Given the description of an element on the screen output the (x, y) to click on. 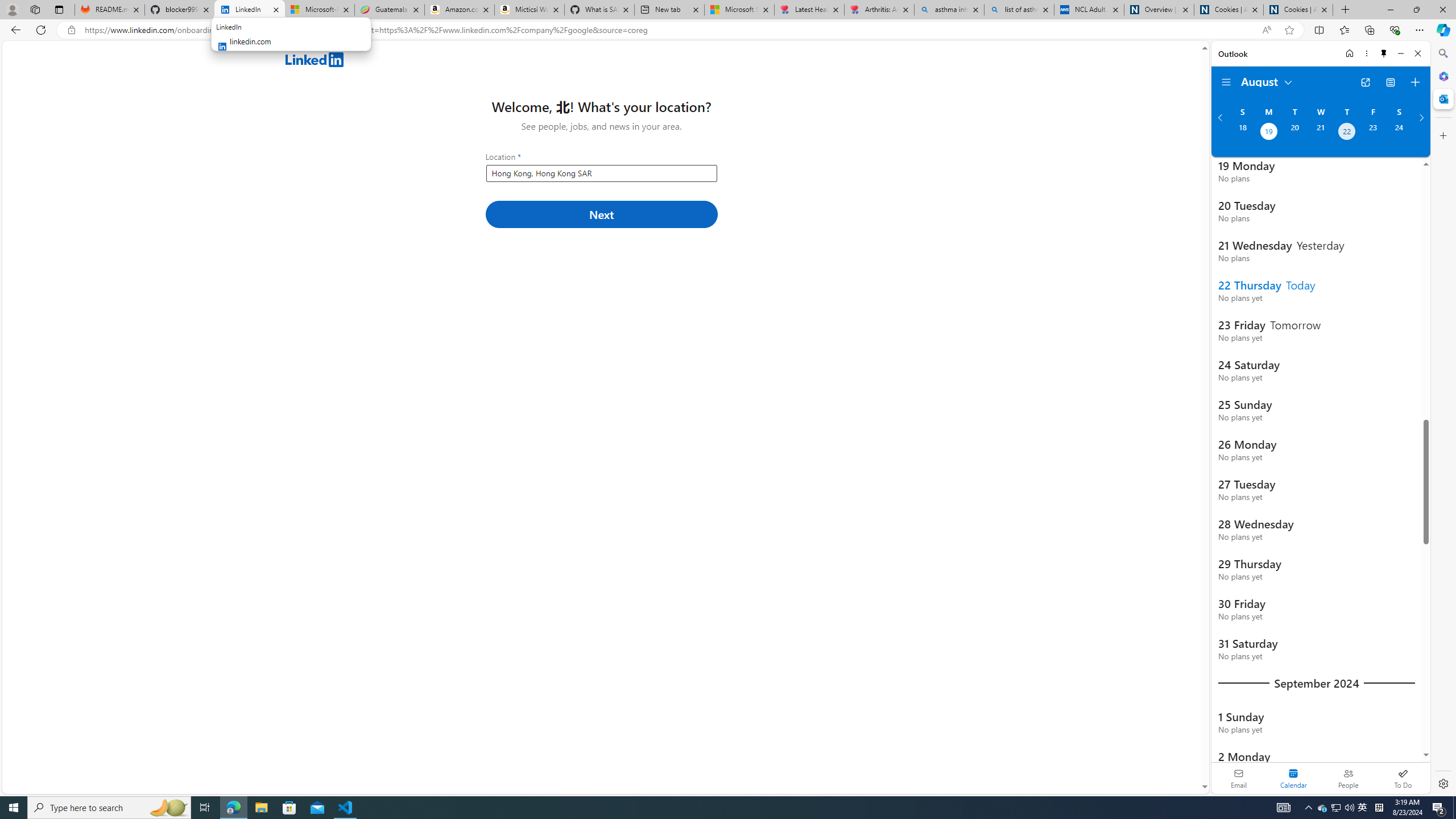
August (1267, 80)
